Given the description of an element on the screen output the (x, y) to click on. 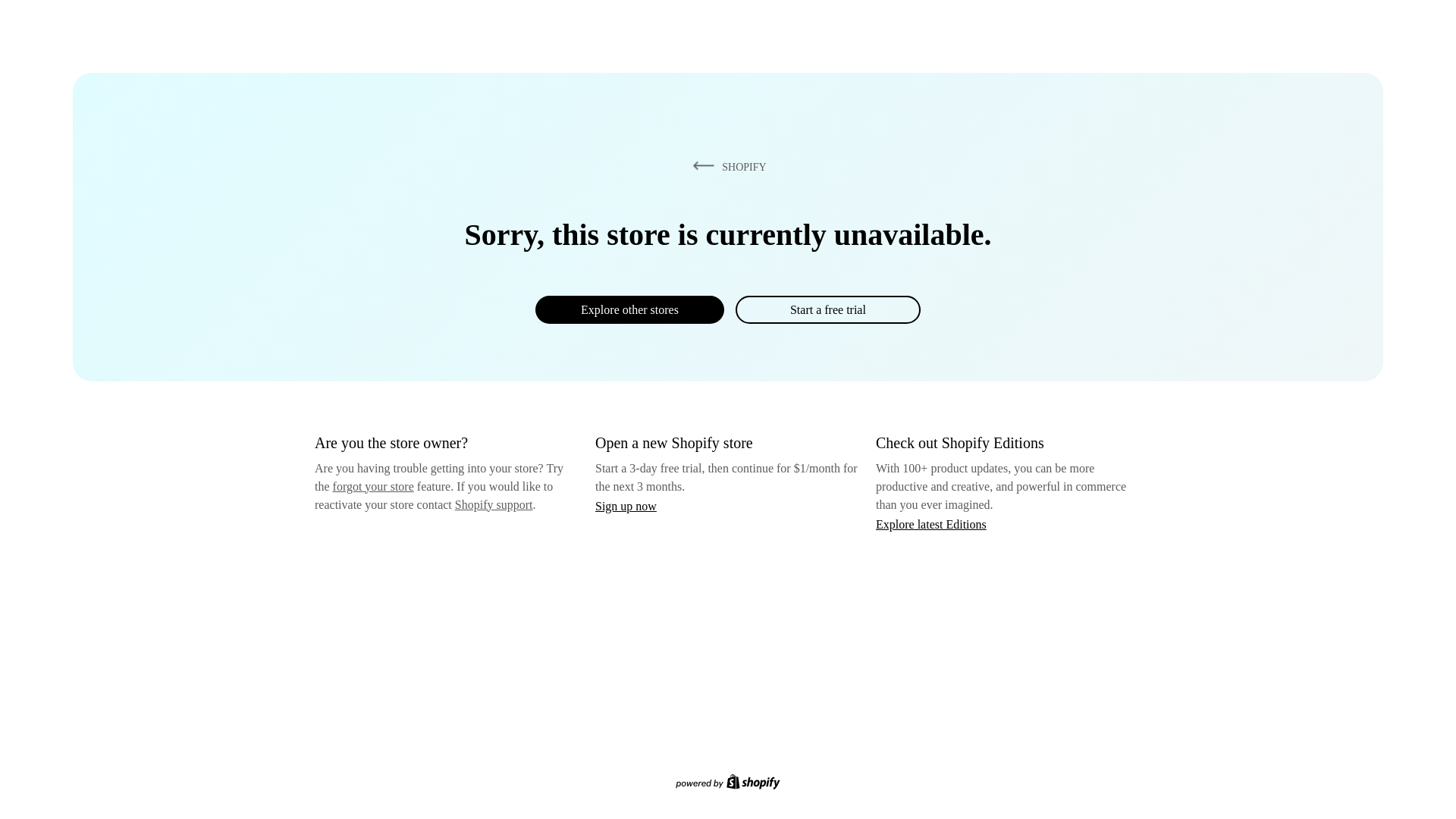
forgot your store (373, 486)
Explore latest Editions (931, 523)
Start a free trial (827, 309)
Shopify support (493, 504)
SHOPIFY (726, 166)
Sign up now (625, 505)
Explore other stores (629, 309)
